Given the description of an element on the screen output the (x, y) to click on. 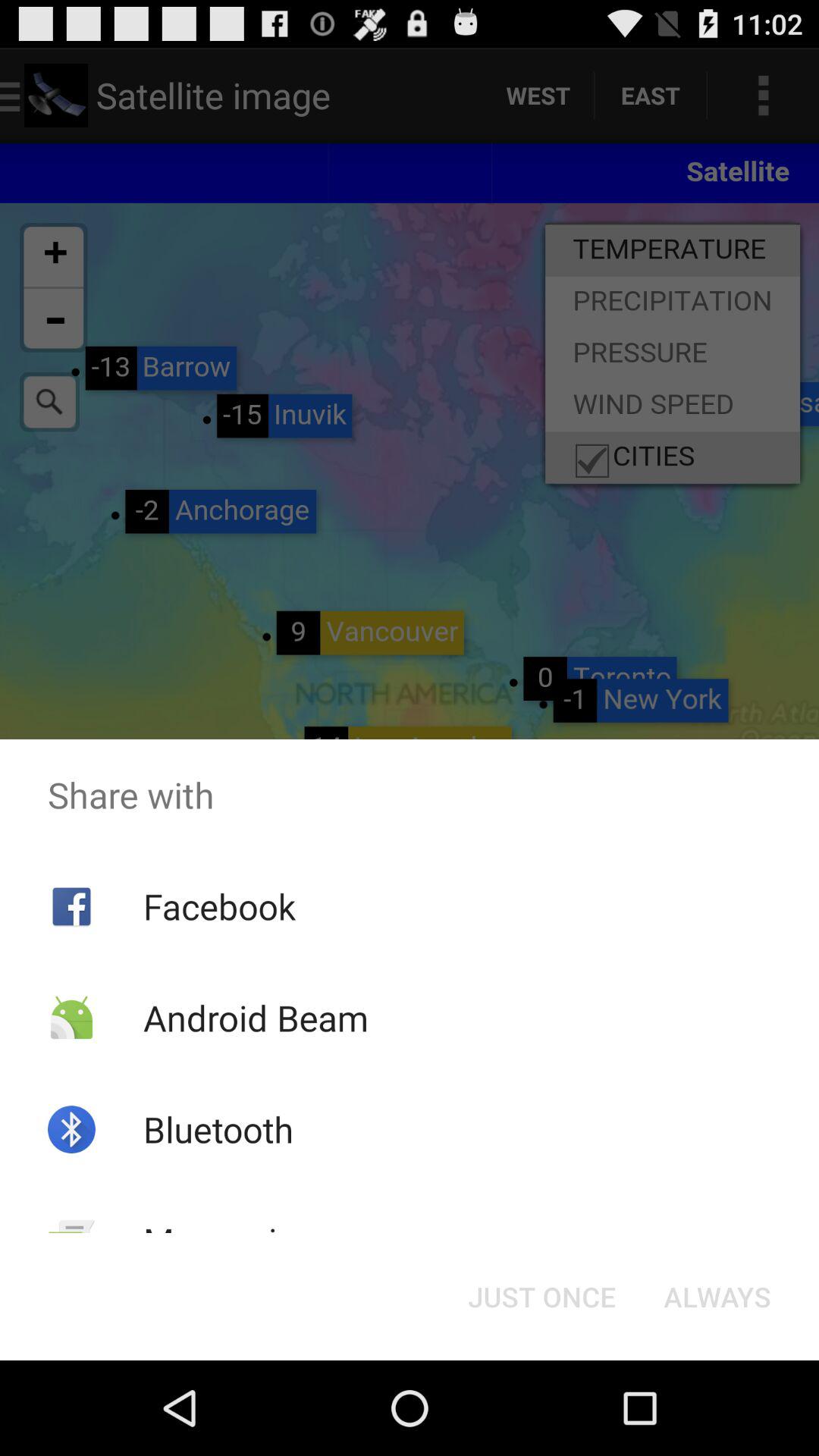
turn off the button next to always icon (541, 1296)
